Given the description of an element on the screen output the (x, y) to click on. 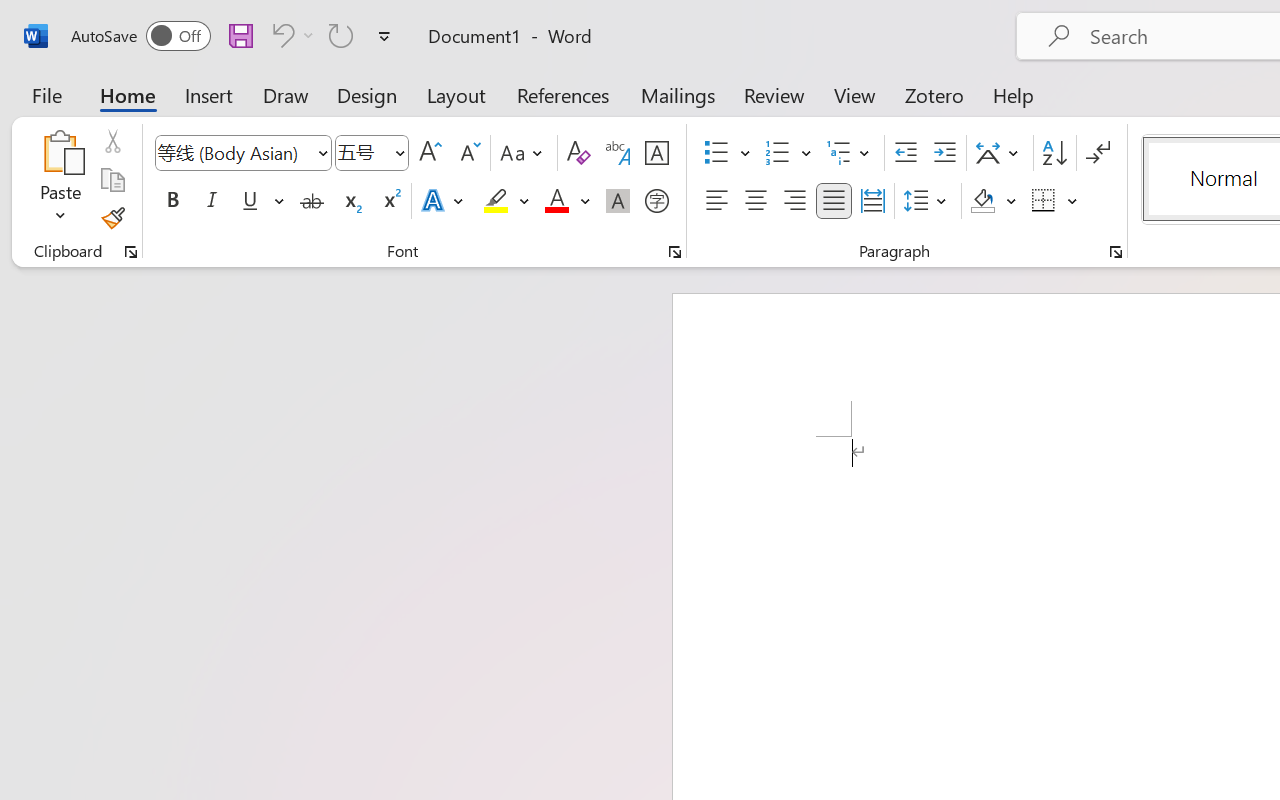
Can't Repeat (341, 35)
